Given the description of an element on the screen output the (x, y) to click on. 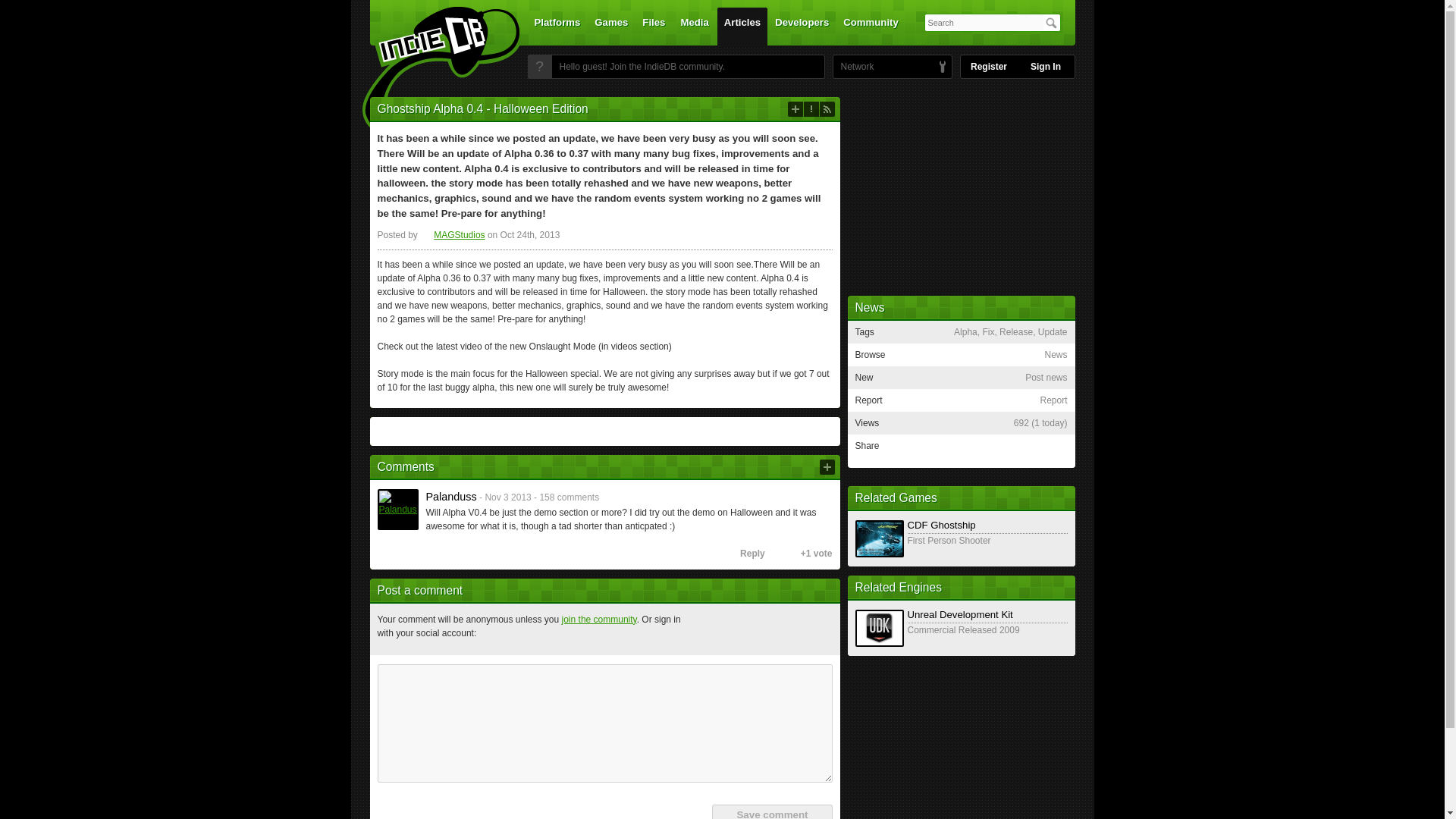
Save comment (771, 811)
Files (652, 26)
Bad karma (790, 553)
Good karma (774, 553)
Report (810, 109)
Article Manager (452, 235)
Reply (745, 553)
RSS (826, 109)
Search (1050, 22)
Media (694, 26)
